Given the description of an element on the screen output the (x, y) to click on. 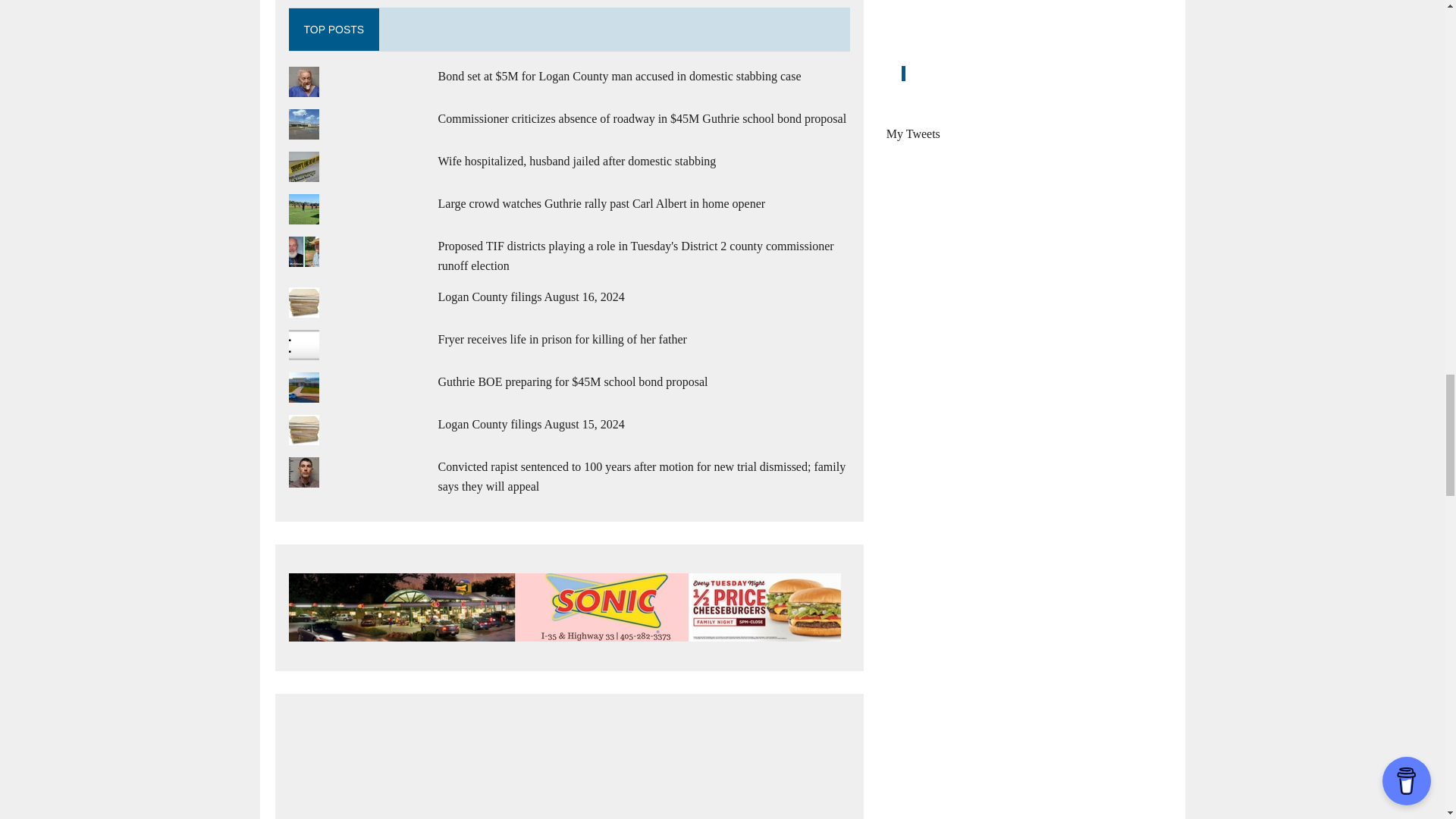
Wife hospitalized, husband jailed after domestic stabbing (577, 160)
